Given the description of an element on the screen output the (x, y) to click on. 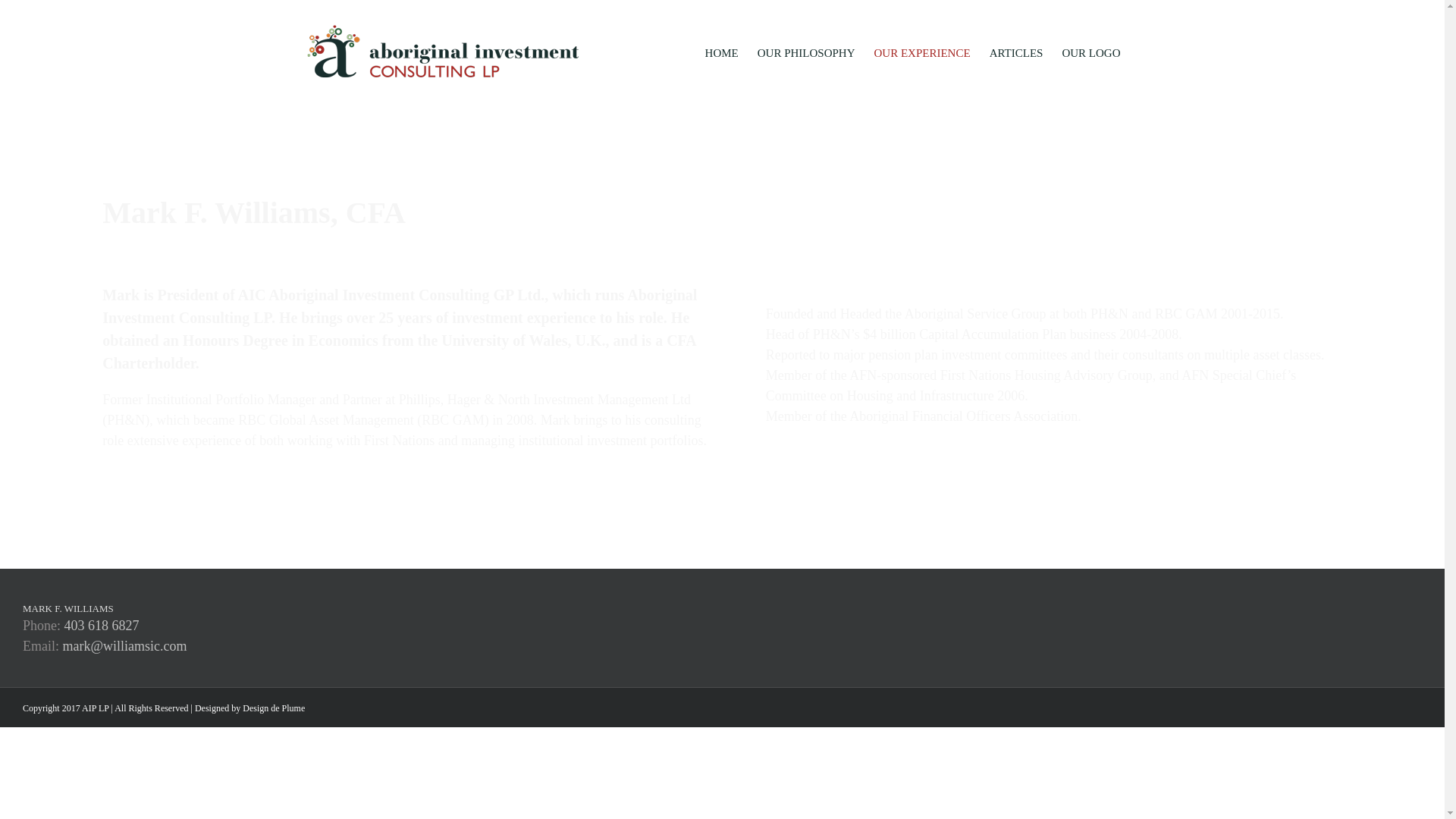
OUR PHILOSOPHY Element type: text (806, 53)
Design de Plume Element type: text (273, 707)
OUR LOGO Element type: text (1090, 53)
mark@williamsic.com Element type: text (124, 645)
403 618 6827 Element type: text (101, 625)
OUR EXPERIENCE Element type: text (922, 53)
HOME Element type: text (721, 53)
ARTICLES Element type: text (1016, 53)
